Given the description of an element on the screen output the (x, y) to click on. 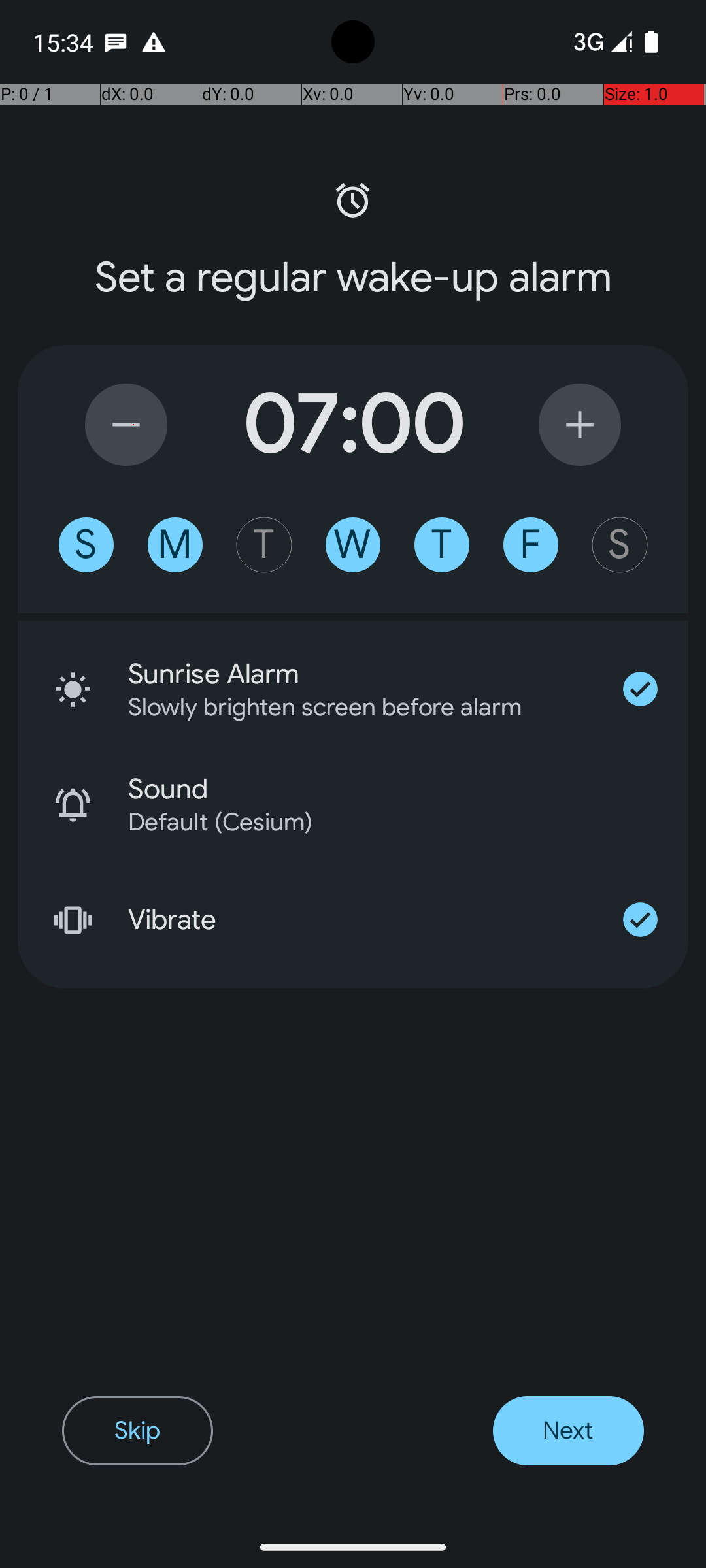
Set a regular wake-up alarm Element type: android.widget.TextView (352, 277)
Fifteen minutes earlier Element type: android.widget.ImageView (125, 424)
07:00 Element type: android.widget.TextView (353, 424)
Fifteen minutes later Element type: android.widget.ImageView (579, 424)
S Element type: android.widget.CheckBox (86, 544)
M Element type: android.widget.CheckBox (175, 544)
T Element type: android.widget.CheckBox (263, 544)
W Element type: android.widget.CheckBox (352, 544)
F Element type: android.widget.CheckBox (530, 544)
Skip Element type: android.widget.Button (137, 1430)
Next Element type: android.widget.Button (567, 1430)
Sunrise Alarm Element type: android.widget.TextView (360, 673)
Slowly brighten screen before alarm Element type: android.widget.TextView (342, 706)
Sound Element type: android.widget.TextView (408, 788)
Default (Cesium) Element type: android.widget.TextView (390, 821)
Vibrate Element type: android.widget.TextView (360, 919)
